Given the description of an element on the screen output the (x, y) to click on. 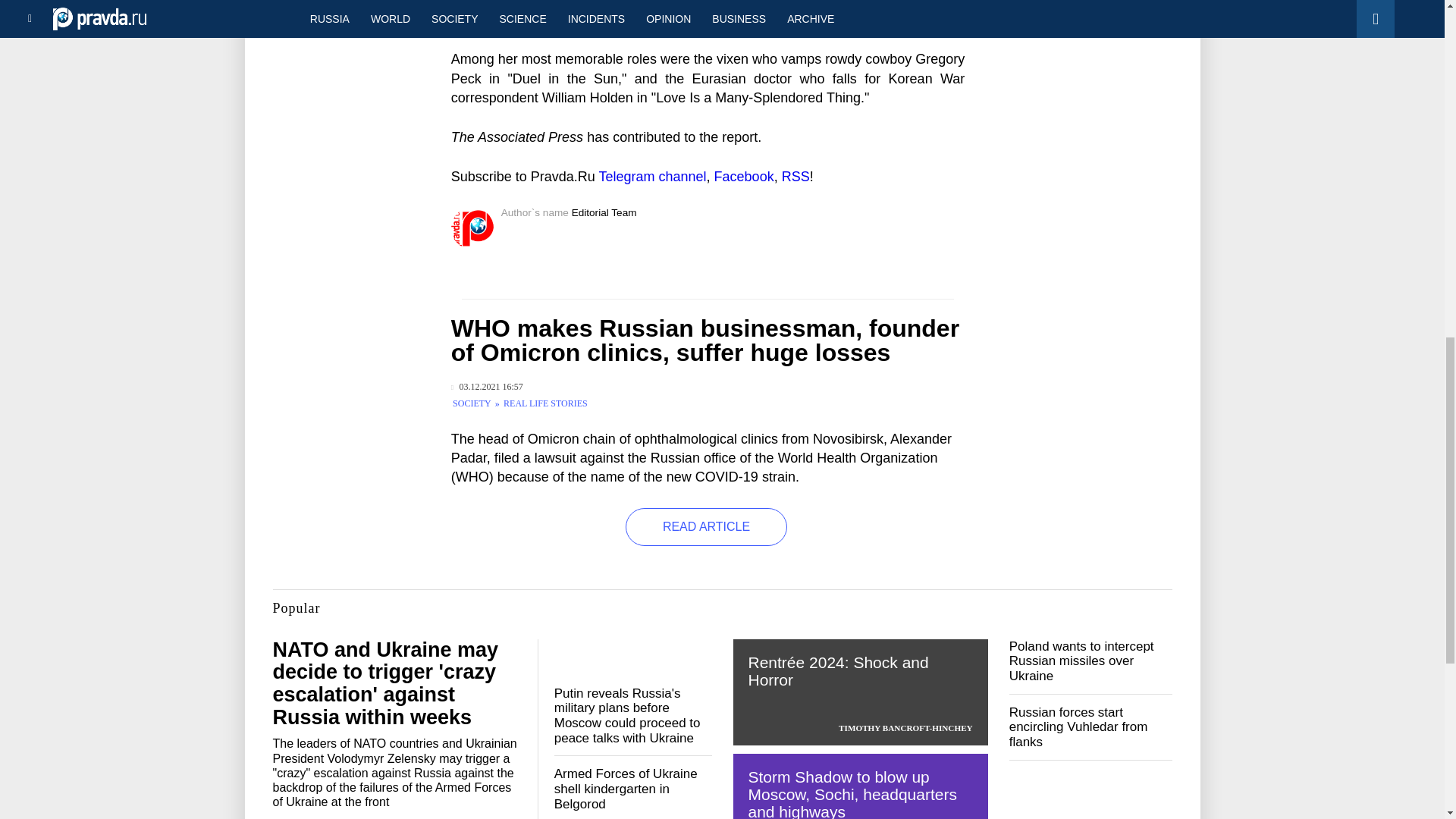
Telegram channel (652, 176)
Facebook (744, 176)
RSS (795, 176)
Editorial Team (604, 212)
Published (486, 387)
Back to top (1418, 79)
